Given the description of an element on the screen output the (x, y) to click on. 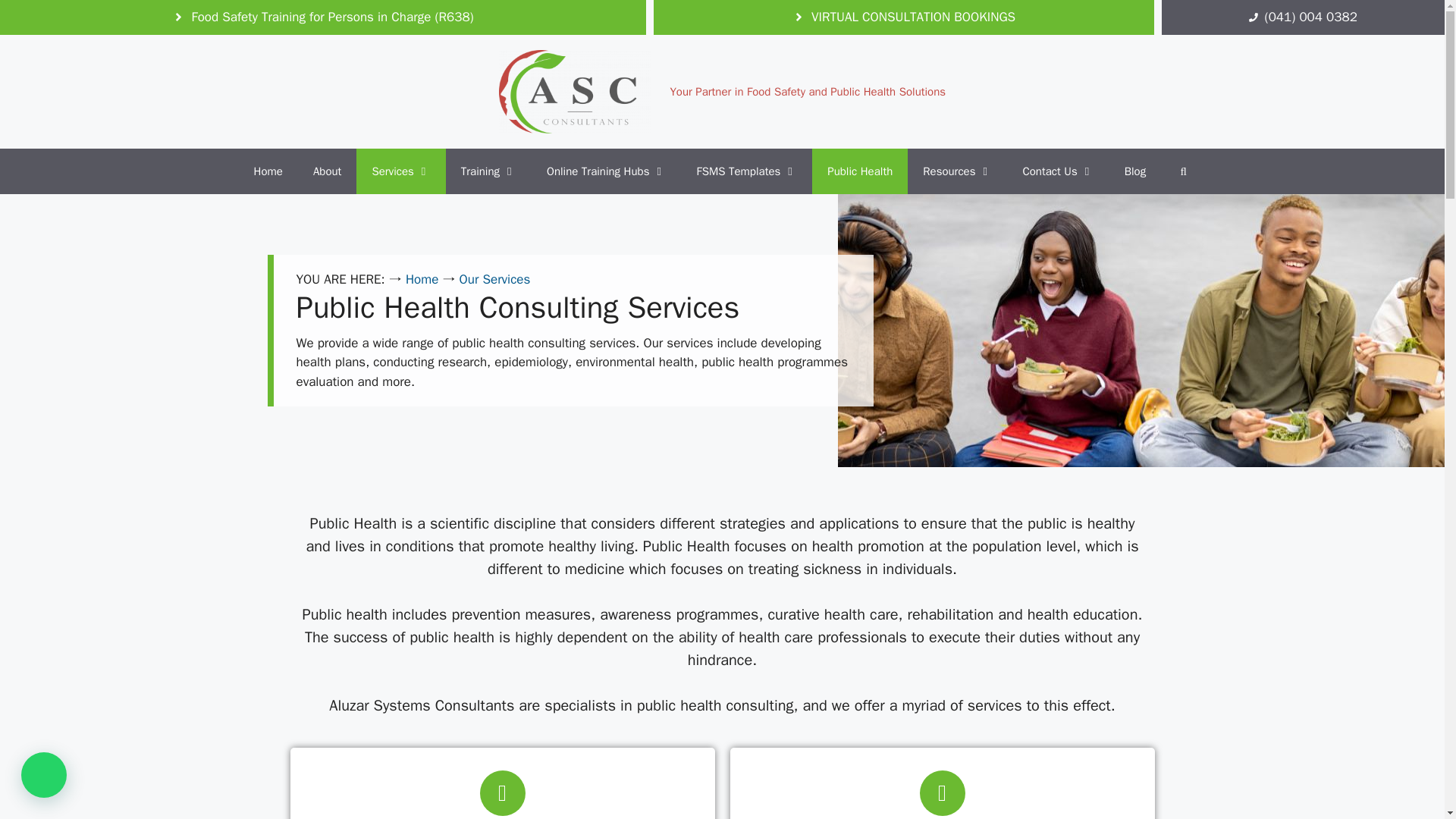
Online Training Hubs (606, 171)
Services (400, 171)
Training (488, 171)
Home (422, 279)
VIRTUAL CONSULTATION BOOKINGS (903, 17)
FSMS Templates (746, 171)
Our Services (495, 279)
Home (268, 171)
About (327, 171)
